Given the description of an element on the screen output the (x, y) to click on. 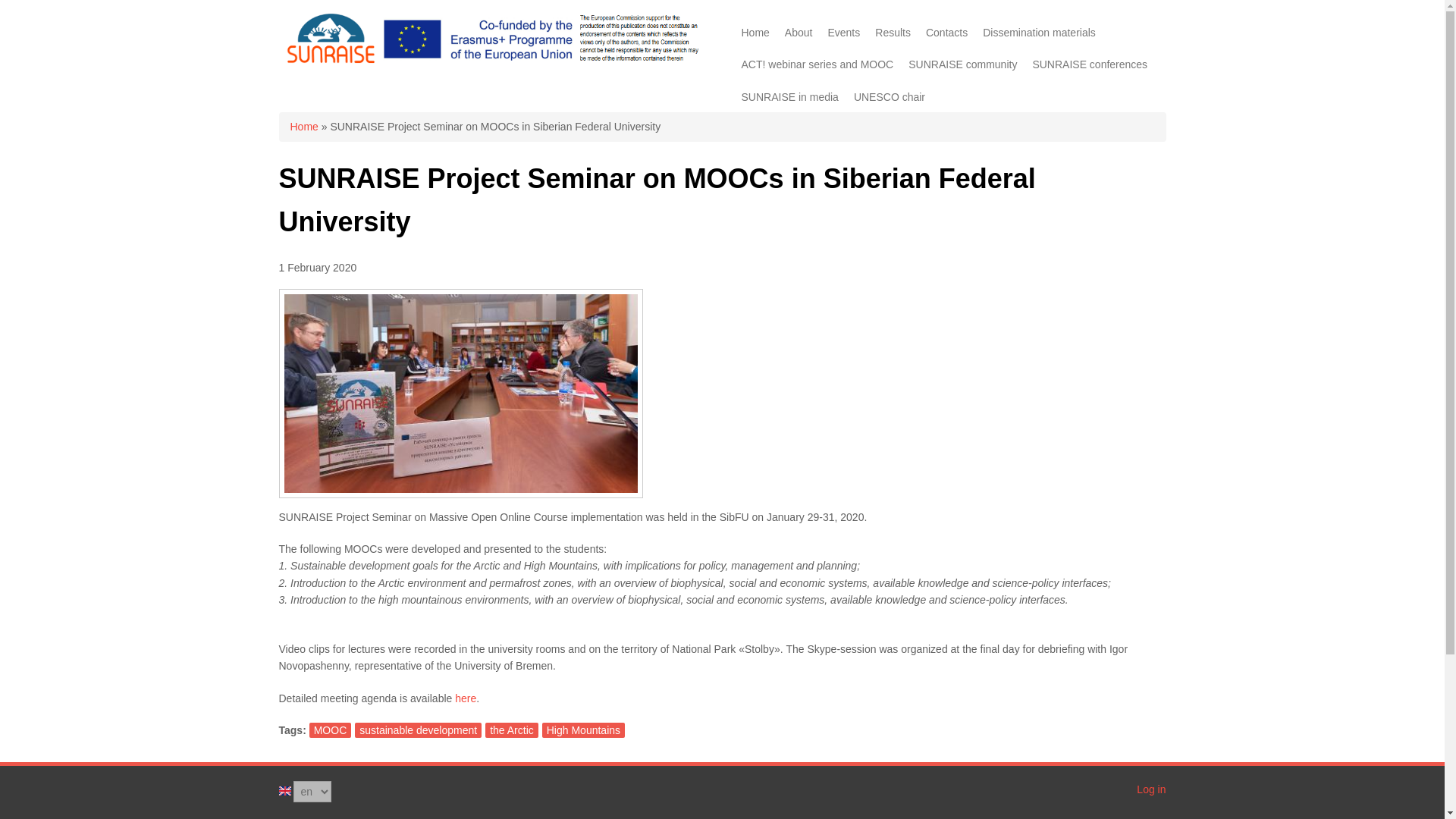
here (465, 698)
Home (303, 126)
Contacts (946, 32)
Home (489, 61)
en (285, 790)
SUNRAISE community (963, 64)
ACT! webinar series and MOOC (817, 64)
Log in (1151, 788)
Dissemination materials (1039, 32)
UNESCO chair (889, 97)
